Given the description of an element on the screen output the (x, y) to click on. 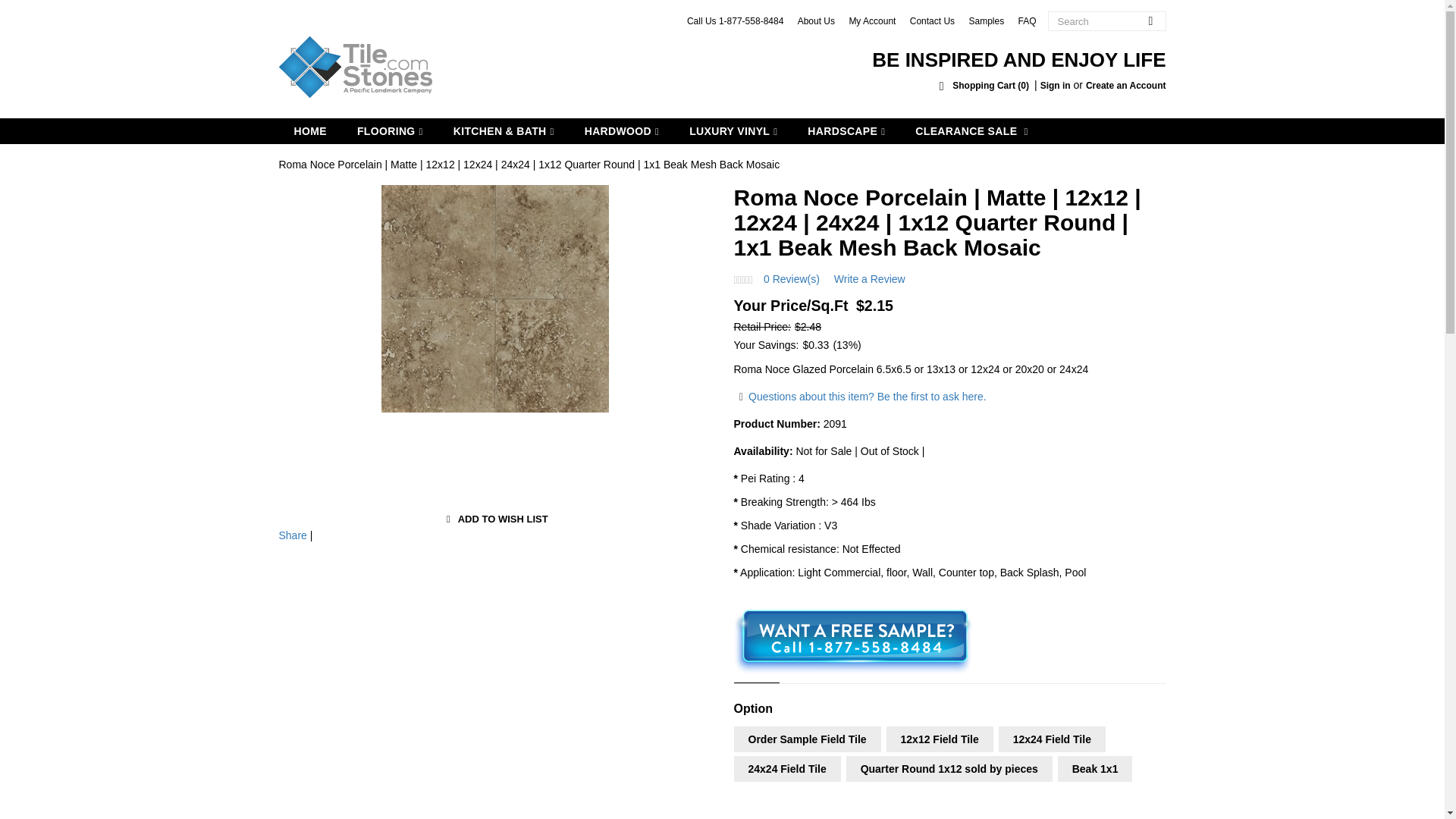
Quarter Round 1x12 sold by pieces  (948, 768)
12x12 Field Tile (939, 739)
FAQ (1026, 20)
12x24 Field Tile (1051, 739)
HARDWOOD (621, 130)
Samples (986, 20)
Order Sample Field Tile  (806, 739)
My Account (871, 20)
About Us (815, 20)
Create an Account (1126, 85)
Sign in (1055, 85)
HOME (310, 130)
Contact Us (932, 20)
1-877-558-8484 (751, 20)
Beak 1x1  (1095, 768)
